Given the description of an element on the screen output the (x, y) to click on. 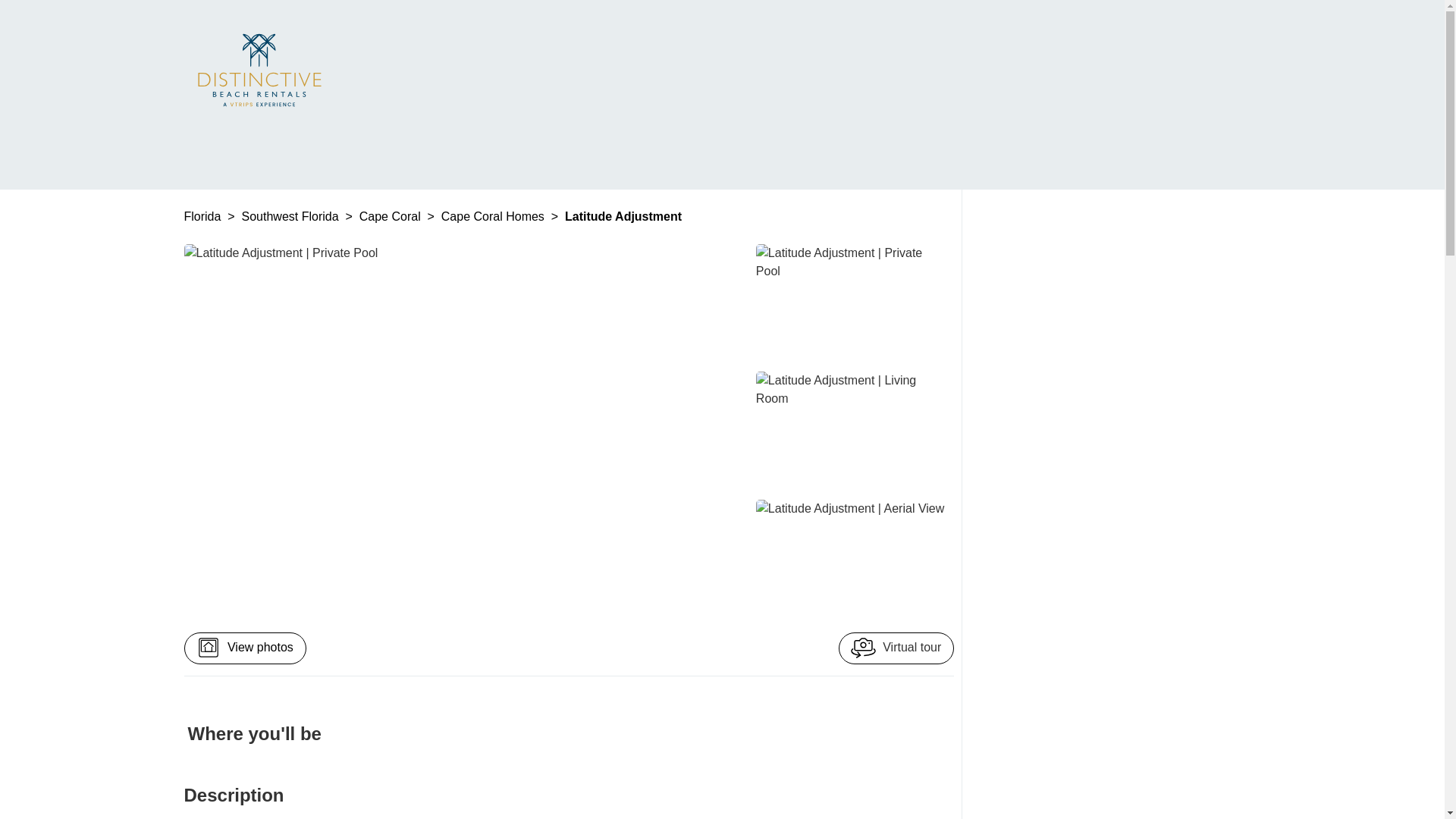
Cape Coral Homes (494, 215)
Virtual tour (896, 648)
Florida (203, 215)
Southwest Florida (291, 215)
View photos (244, 648)
Cape Coral (391, 215)
